Given the description of an element on the screen output the (x, y) to click on. 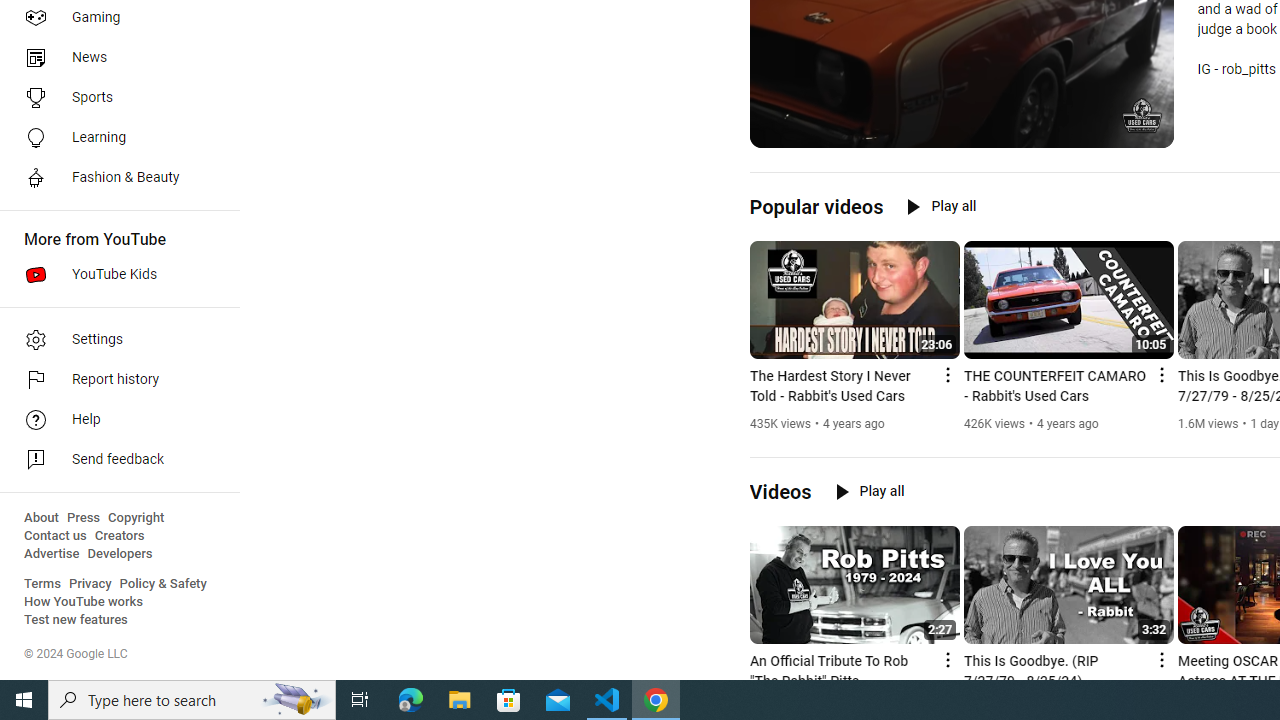
YouTube Kids (113, 274)
Test new features (76, 620)
Videos (779, 492)
Settings (1107, 130)
Developers (120, 554)
Action menu (1160, 659)
Fashion & Beauty (113, 177)
Settings (113, 339)
Copyright (136, 518)
Full screen (f) (1143, 130)
Mute (m) (815, 130)
Channel watermark (1141, 115)
